Given the description of an element on the screen output the (x, y) to click on. 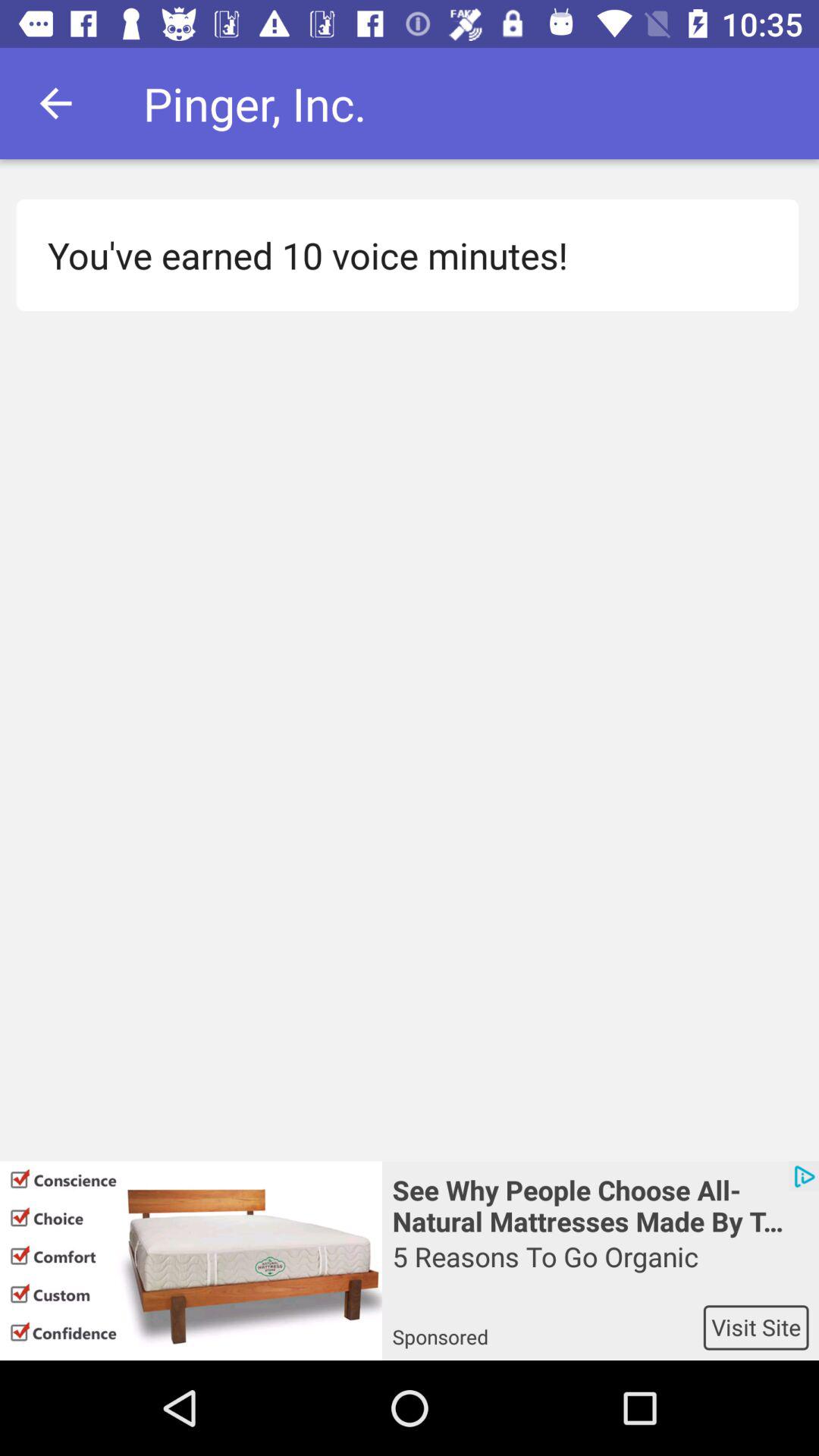
turn on the icon at the bottom left corner (191, 1260)
